Given the description of an element on the screen output the (x, y) to click on. 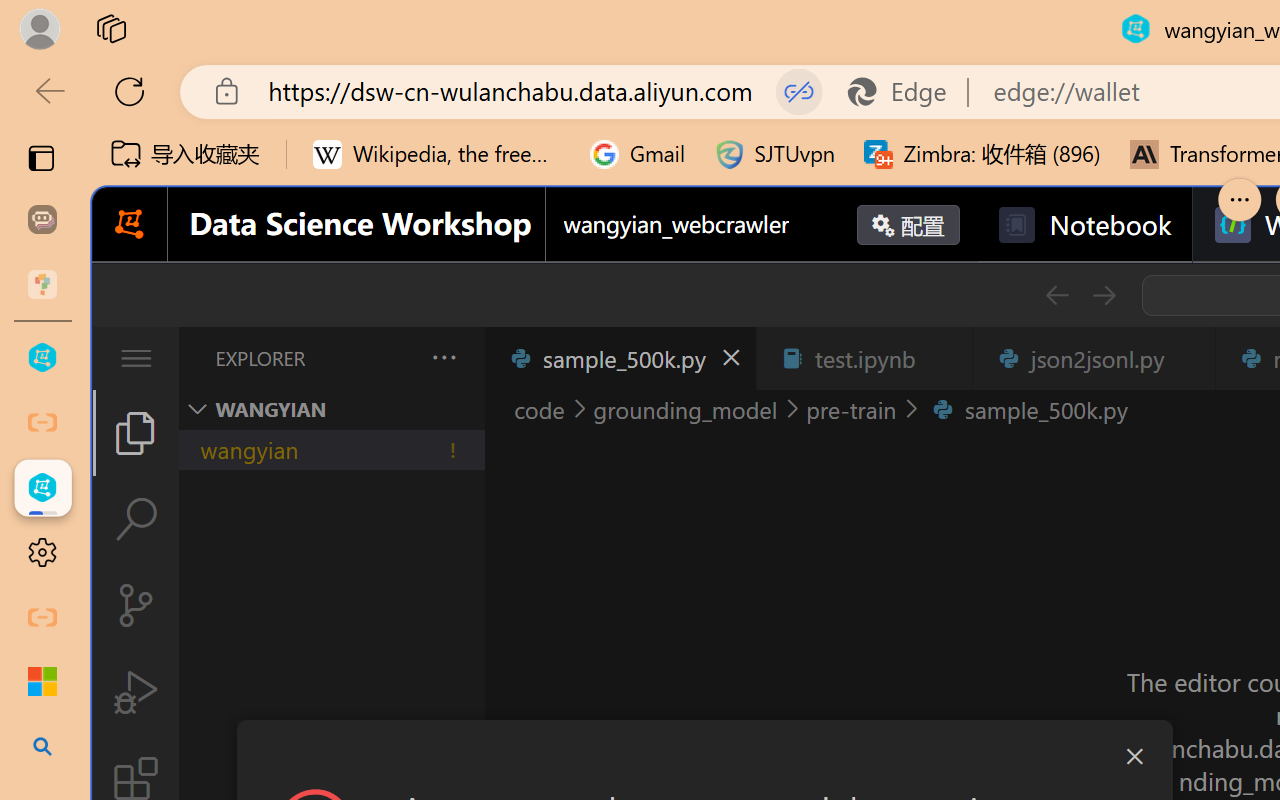
Class: actions-container (703, 756)
Edge (905, 91)
Search (Ctrl+Shift+F) (135, 519)
Explorer Section: wangyian (331, 409)
Microsoft security help and learning (42, 681)
test.ipynb (864, 358)
Explorer actions (391, 358)
Application Menu (135, 358)
Run and Debug (Ctrl+Shift+D) (135, 692)
